Given the description of an element on the screen output the (x, y) to click on. 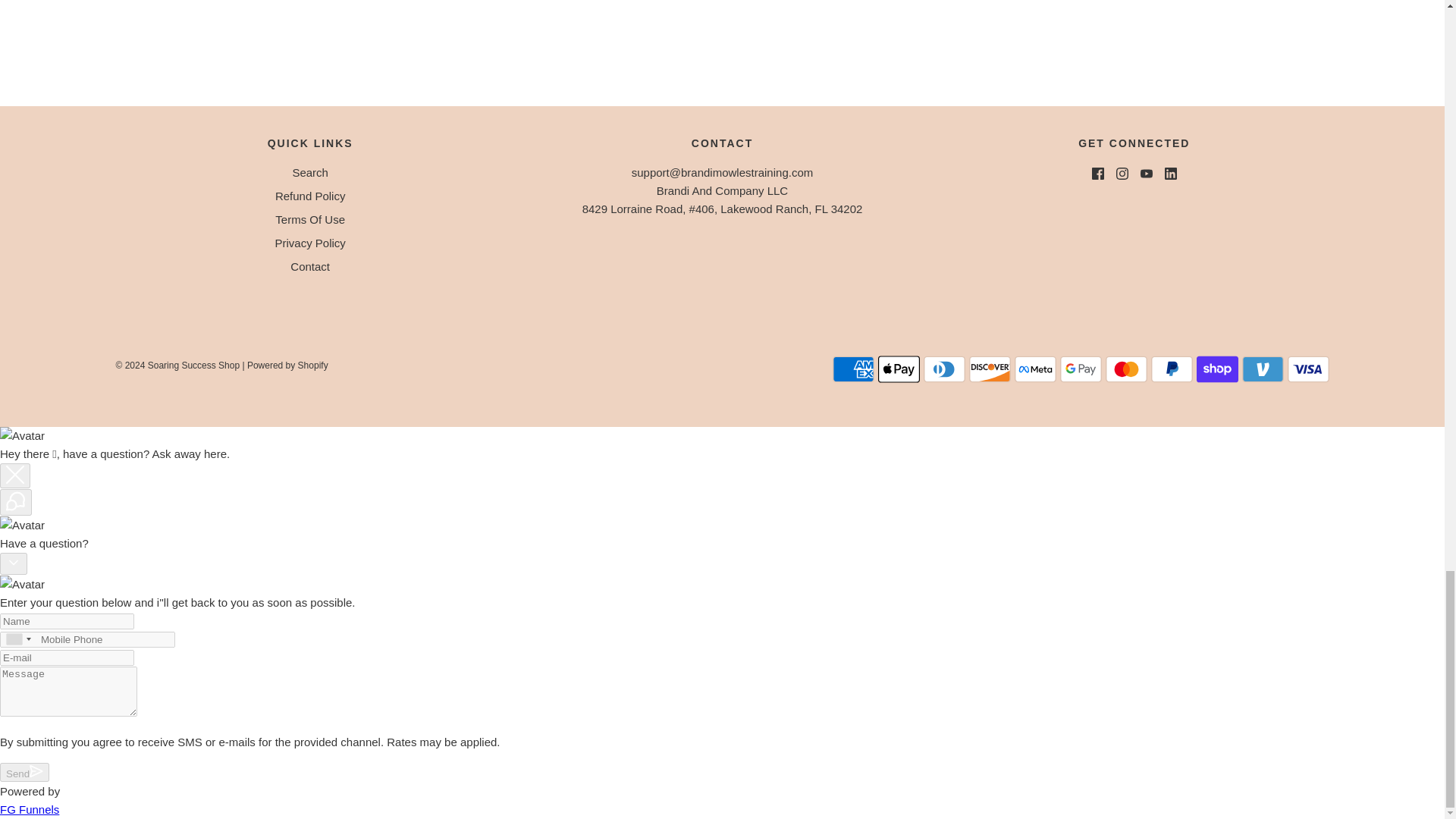
American Express (853, 368)
Discover (989, 368)
Instagram icon (1122, 173)
YouTube icon (1146, 173)
Facebook icon (1097, 173)
Apple Pay (898, 368)
Google Pay (1080, 368)
Meta Pay (1035, 368)
Diners Club (944, 368)
LinkedIn icon (1170, 173)
